Given the description of an element on the screen output the (x, y) to click on. 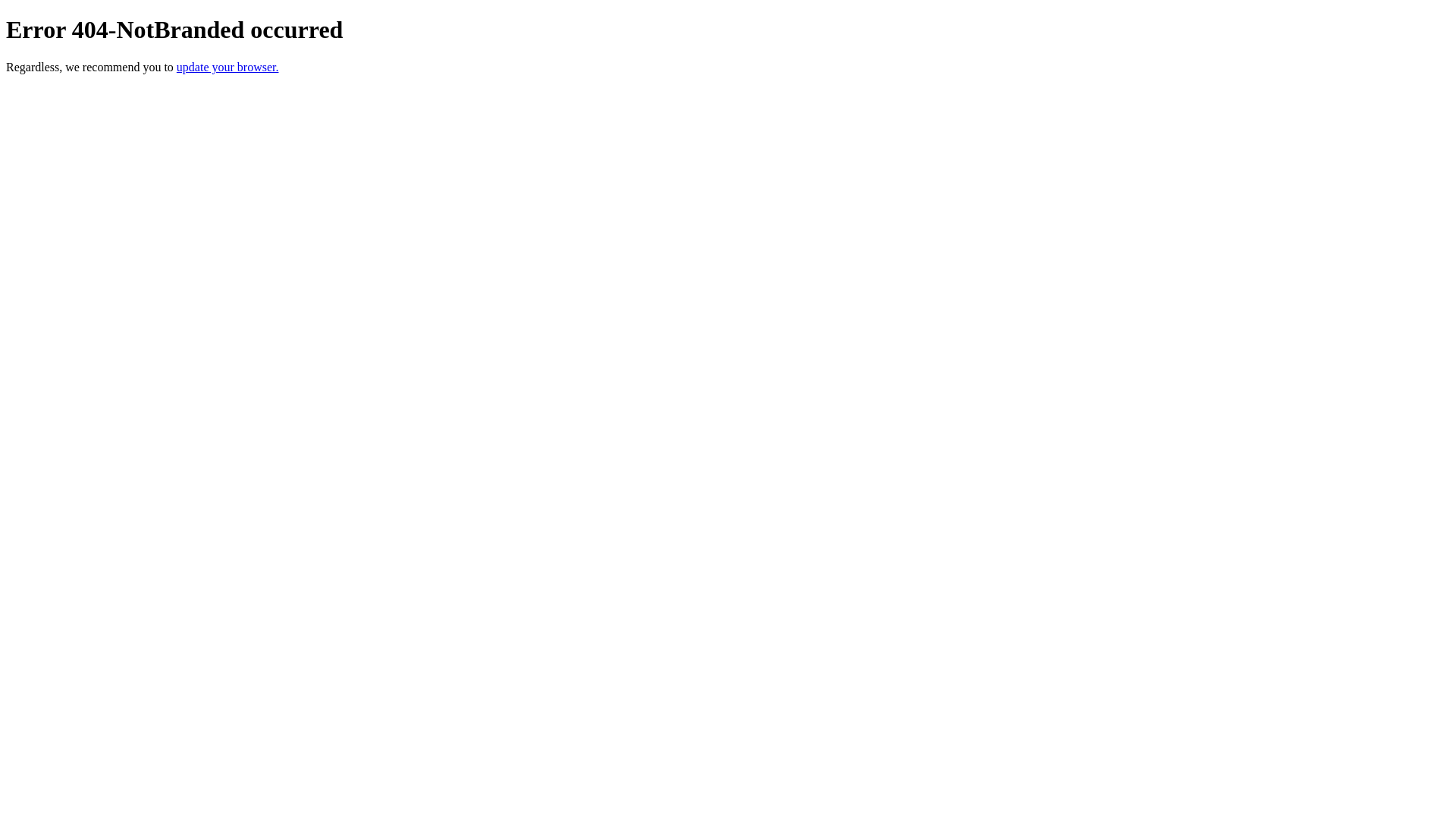
update your browser. Element type: text (227, 66)
